Given the description of an element on the screen output the (x, y) to click on. 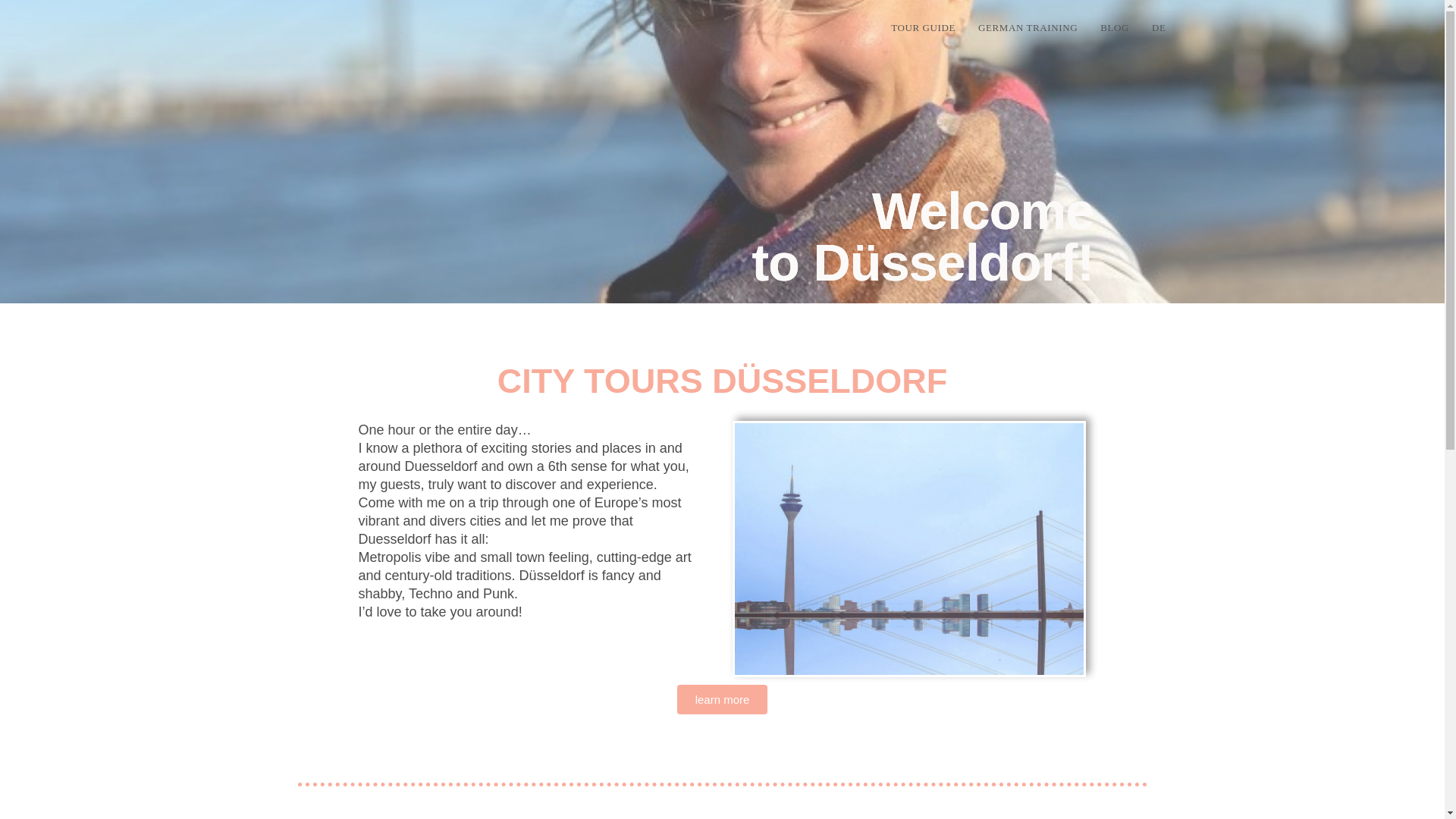
GERMAN TRAINING (1027, 28)
learn more (722, 699)
TOUR GUIDE (922, 28)
BLOG (1114, 28)
